Given the description of an element on the screen output the (x, y) to click on. 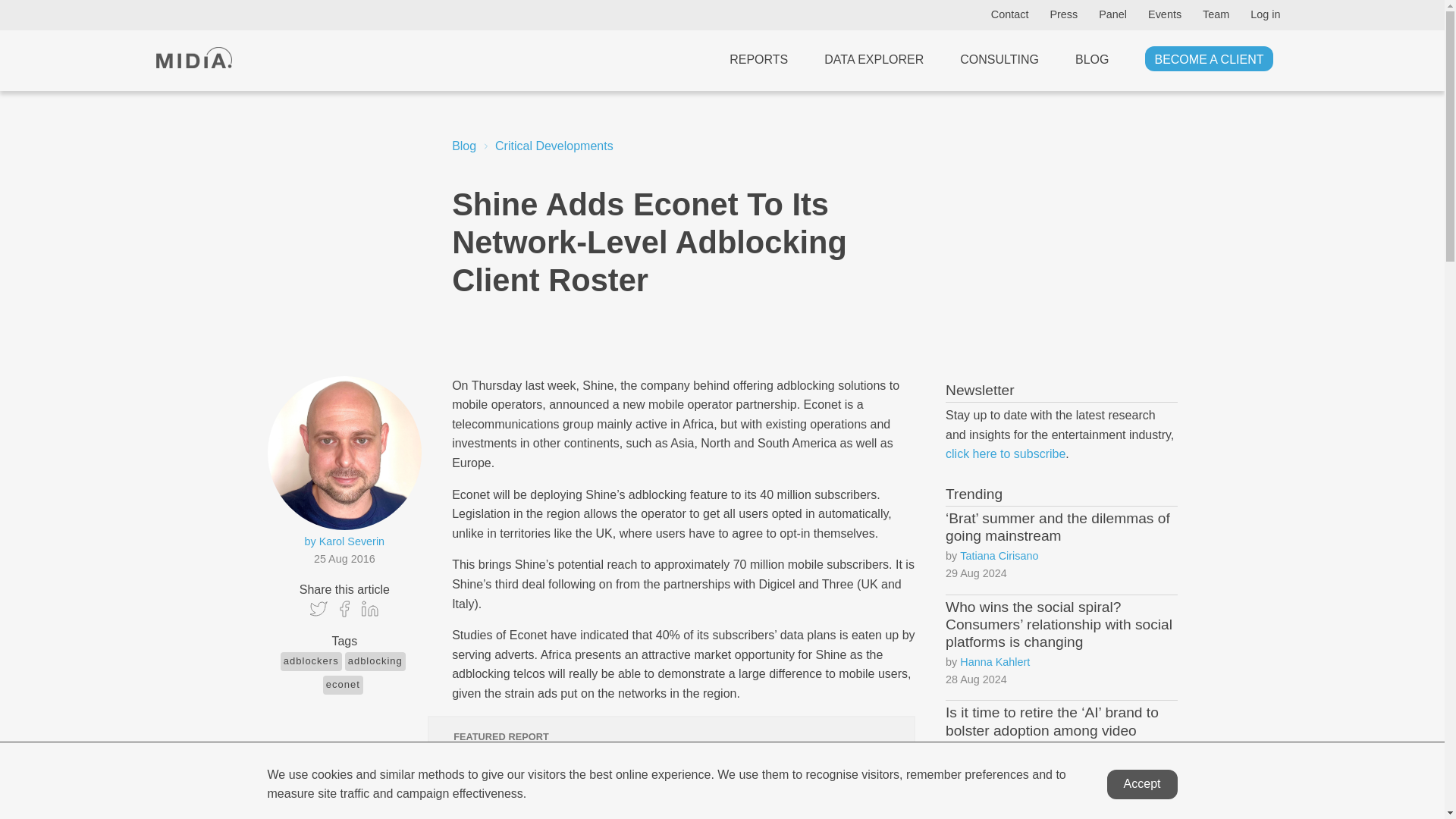
Critical Developments (553, 145)
Ben Woods (987, 768)
Hanna Kahlert (994, 661)
adblocking (375, 660)
Team (1216, 14)
click here to subscribe (1004, 453)
Tatiana Cirisano (998, 556)
by Karol Severin (344, 541)
Blog (463, 145)
Events (1164, 14)
